Given the description of an element on the screen output the (x, y) to click on. 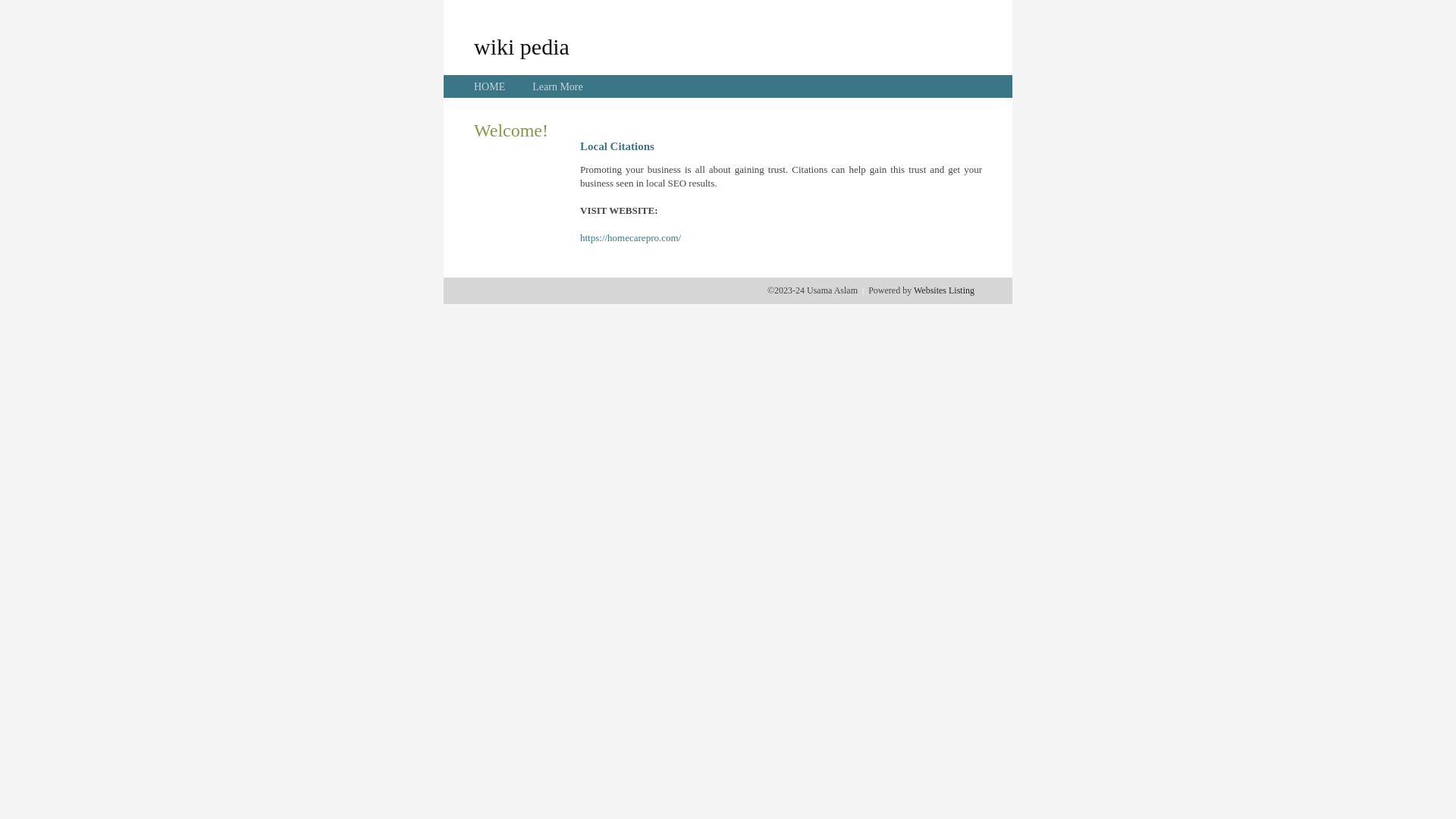
Learn More Element type: text (557, 86)
https://homecarepro.com/ Element type: text (630, 237)
wiki pedia Element type: text (521, 46)
HOME Element type: text (489, 86)
Websites Listing Element type: text (943, 290)
